Given the description of an element on the screen output the (x, y) to click on. 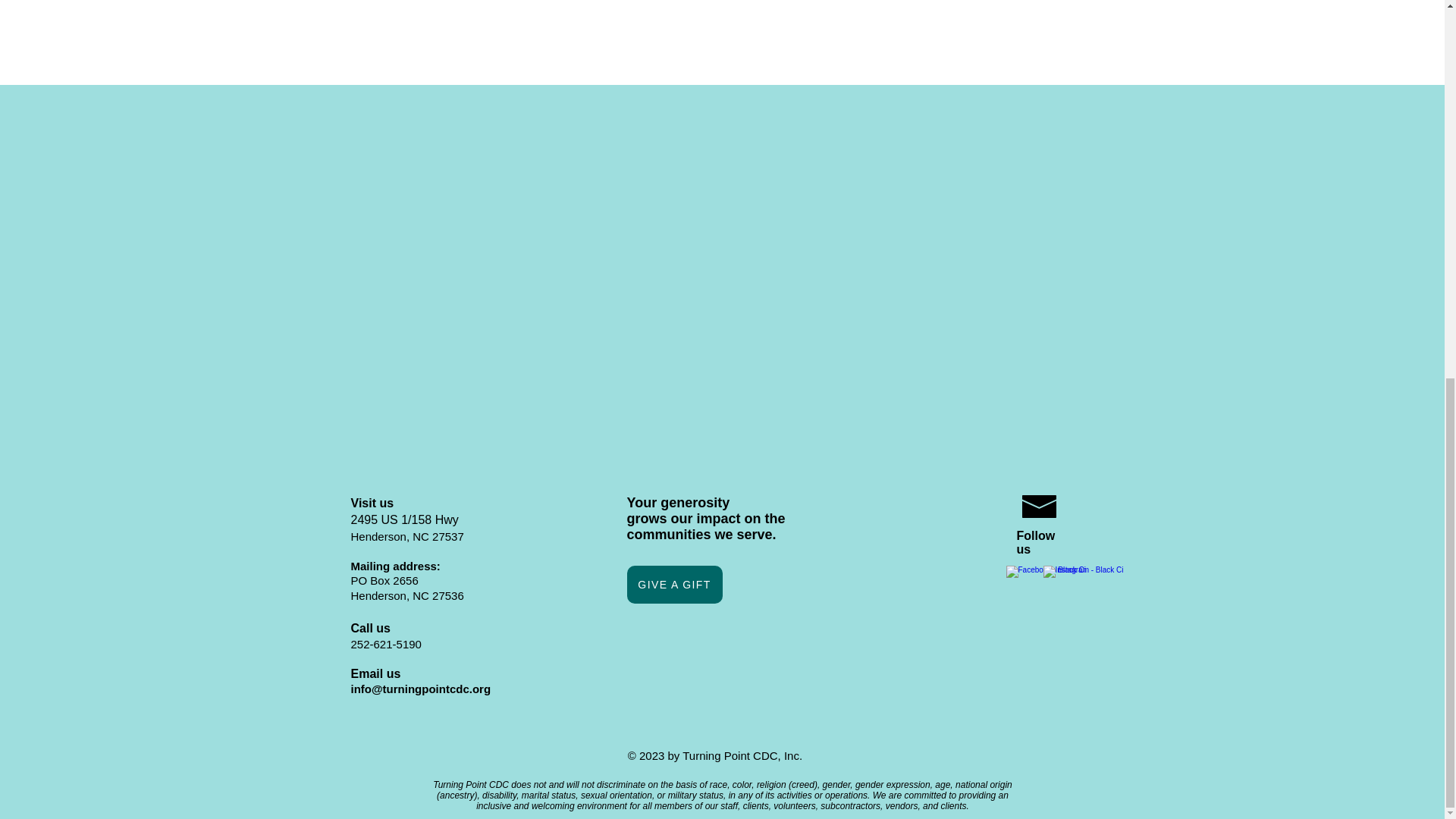
GIVE A GIFT (674, 584)
